Given the description of an element on the screen output the (x, y) to click on. 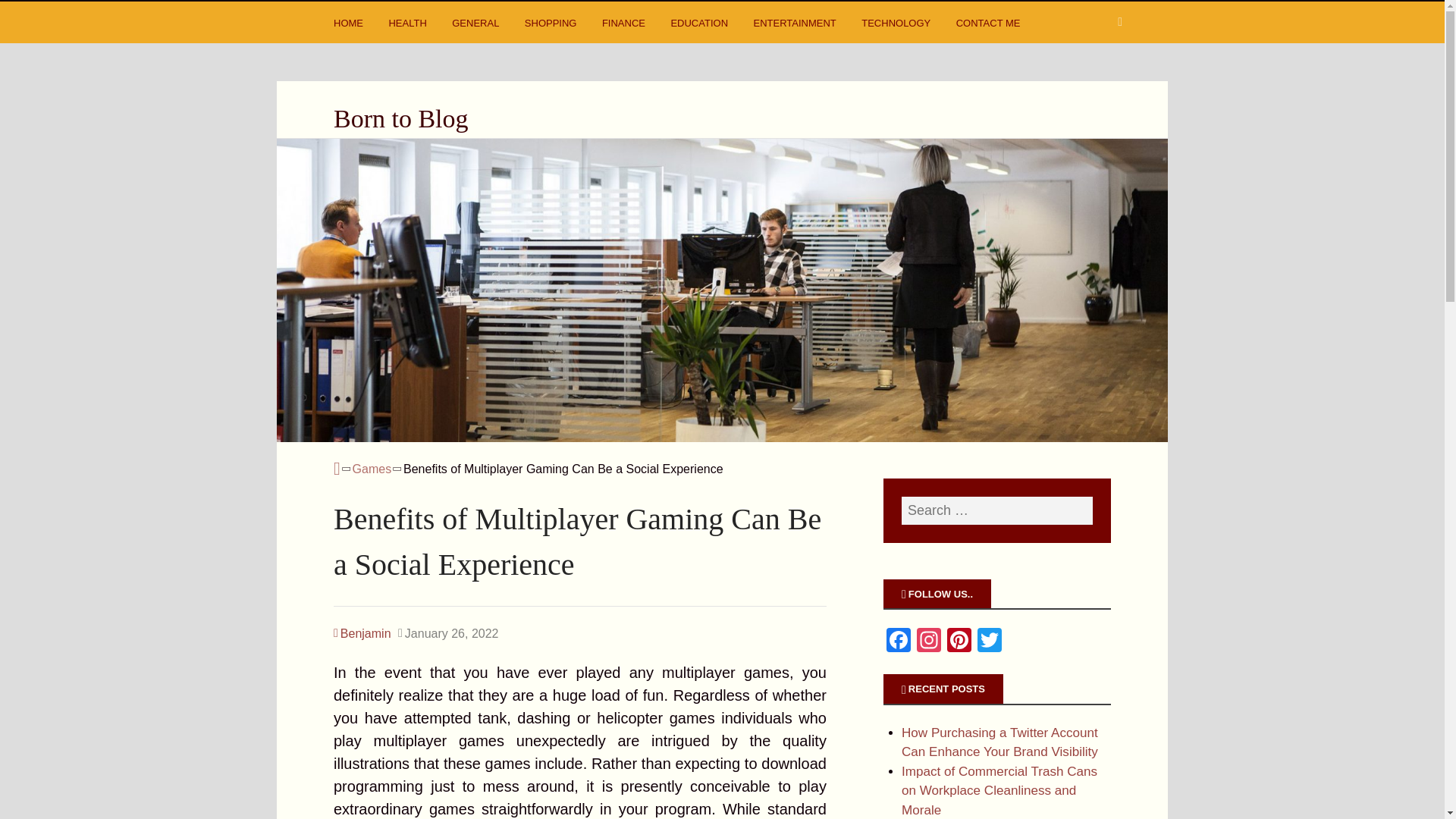
Search (30, 15)
Instagram (928, 642)
ENTERTAINMENT (796, 26)
Facebook (898, 642)
CONTACT ME (990, 26)
FINANCE (625, 26)
Facebook (898, 642)
Wednesday, January 26, 2022, 4:39 am (448, 633)
HOME (349, 26)
Pinterest (958, 642)
Instagram (928, 642)
GENERAL (476, 26)
HEALTH (408, 26)
